Given the description of an element on the screen output the (x, y) to click on. 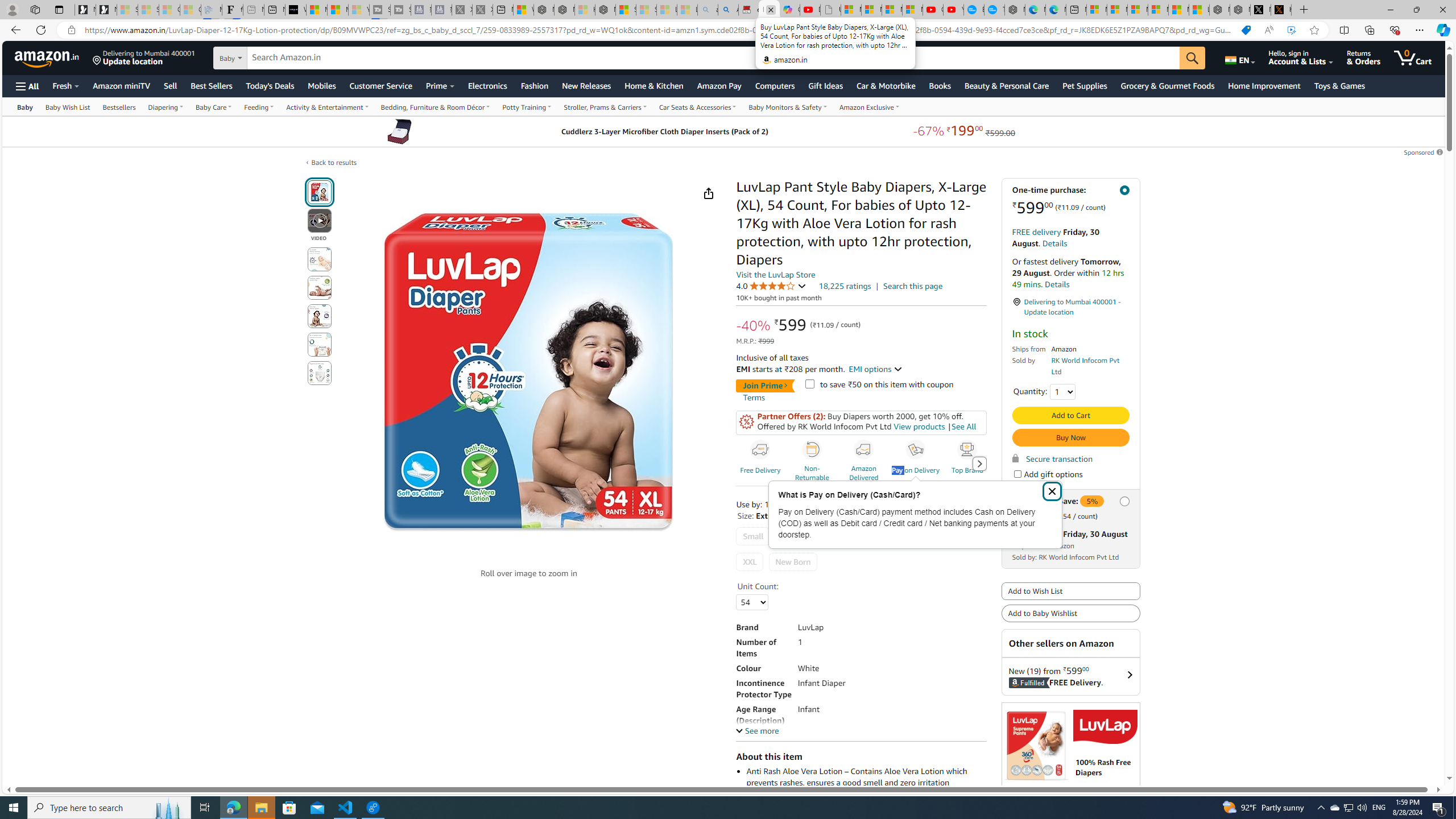
Enhance video (1291, 29)
Nordace - Nordace has arrived Hong Kong (1014, 9)
Copilot (789, 9)
Amazon Echo Dot PNG - Search Images (728, 9)
Nordace - Nordace Siena Is Not An Ordinary Backpack (604, 9)
